Given the description of an element on the screen output the (x, y) to click on. 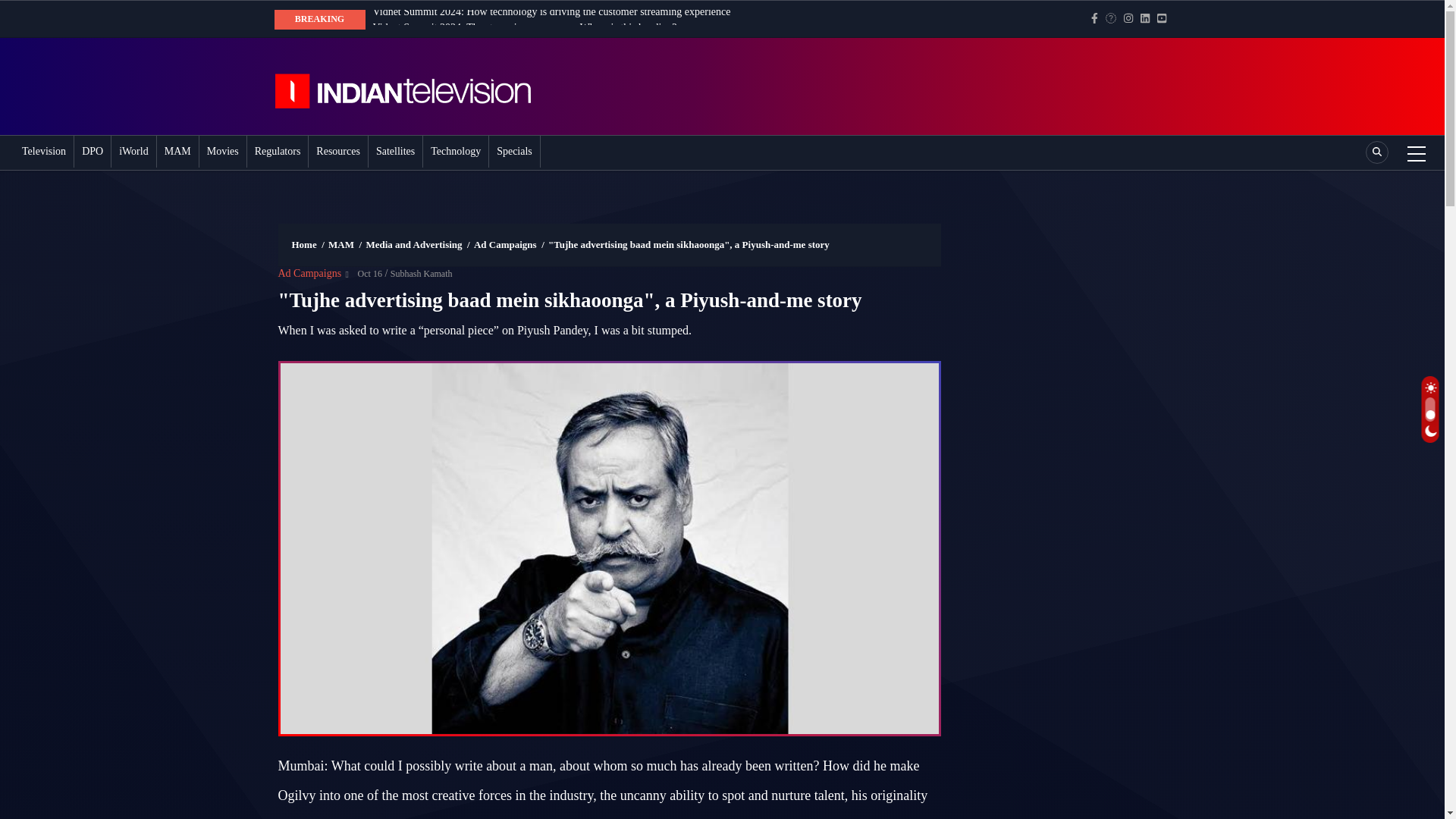
Television (43, 151)
Home (419, 86)
Television (43, 151)
